Given the description of an element on the screen output the (x, y) to click on. 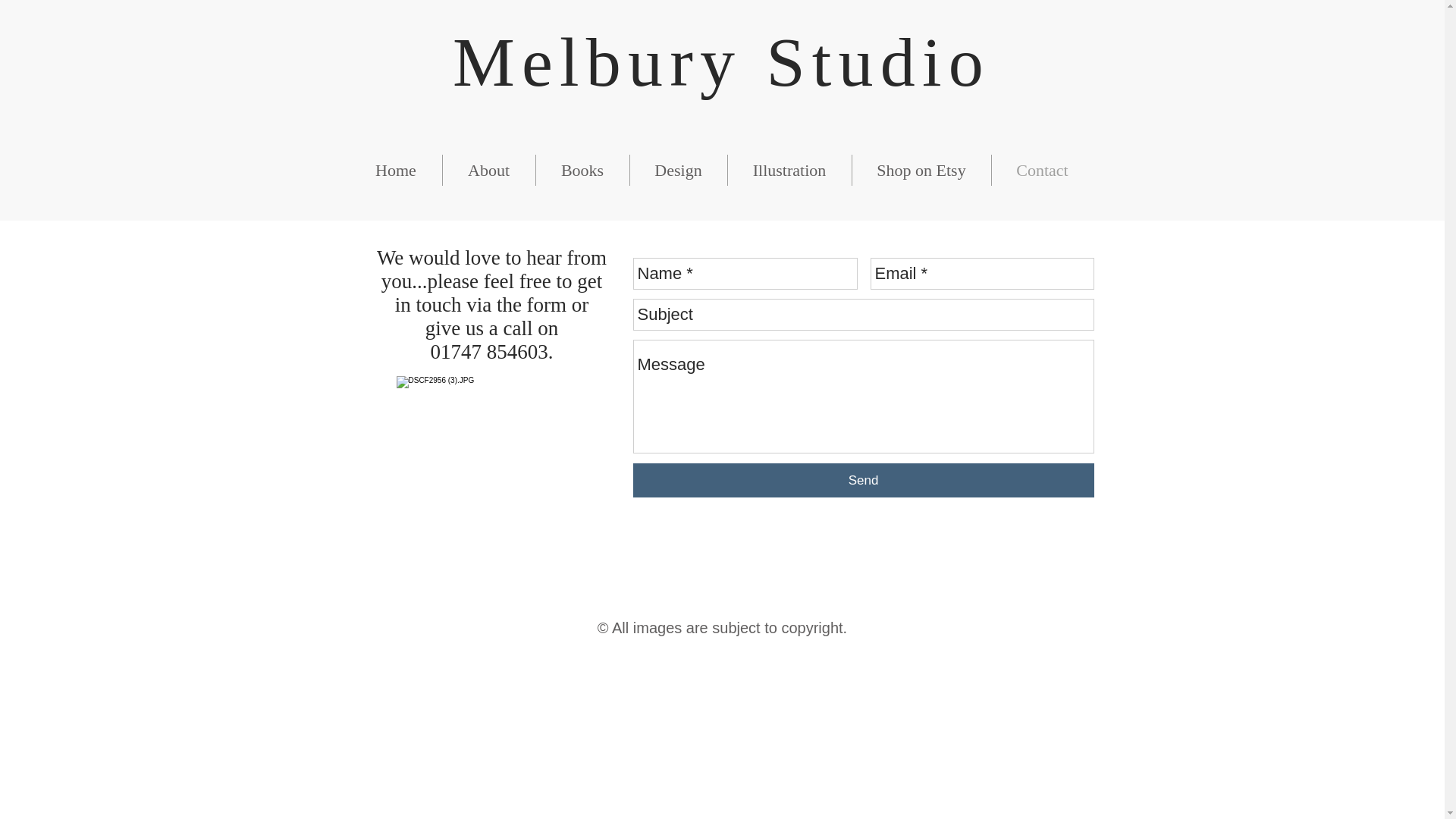
Melbury Studio (721, 61)
Home (396, 169)
Shop on Etsy (921, 169)
Books (581, 169)
Design (677, 169)
Contact (1042, 169)
About (488, 169)
Illustration (789, 169)
Send (862, 480)
